Given the description of an element on the screen output the (x, y) to click on. 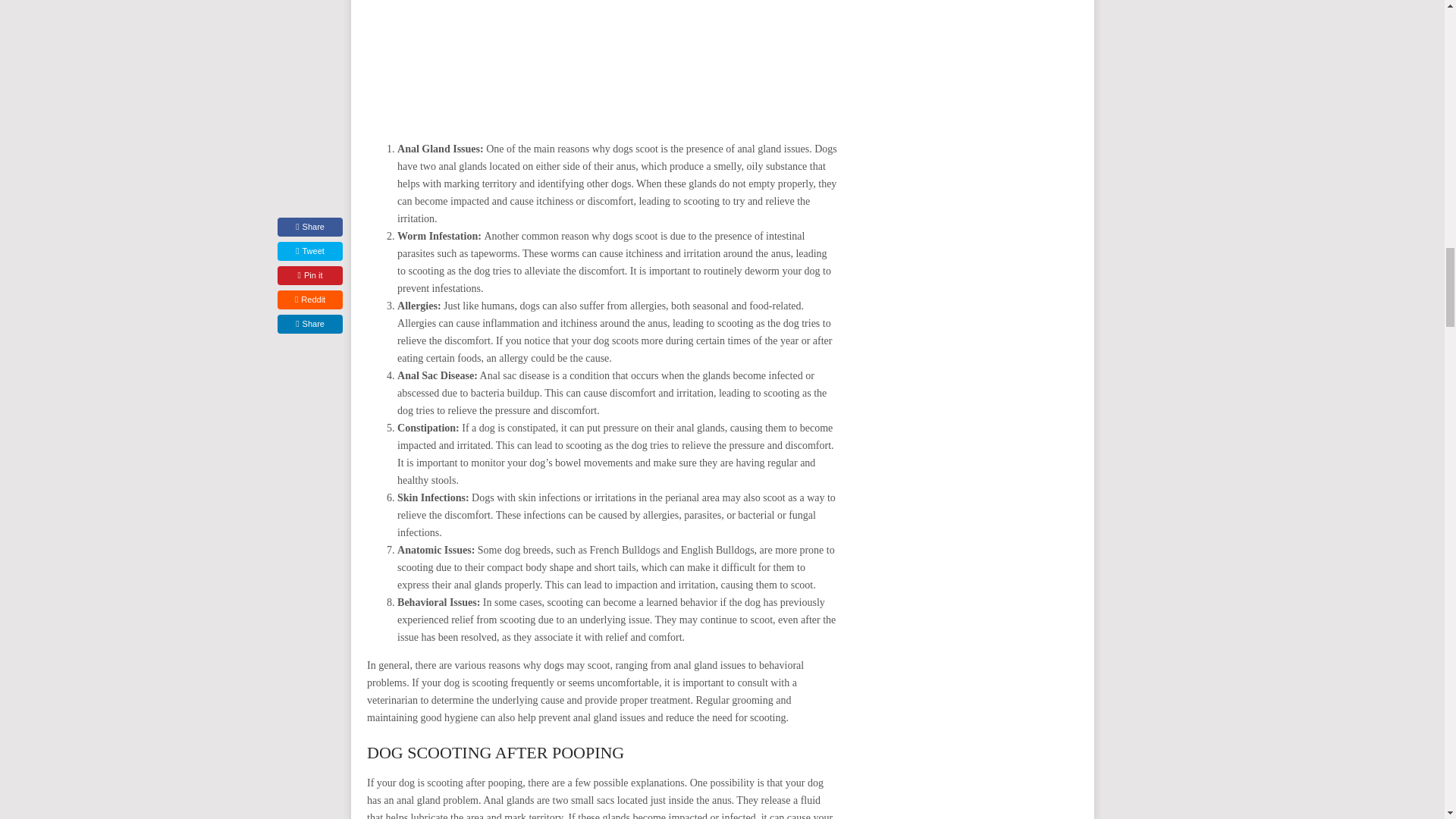
12 Effective Home Remedies For Dogs Scooting 2 (601, 61)
